Given the description of an element on the screen output the (x, y) to click on. 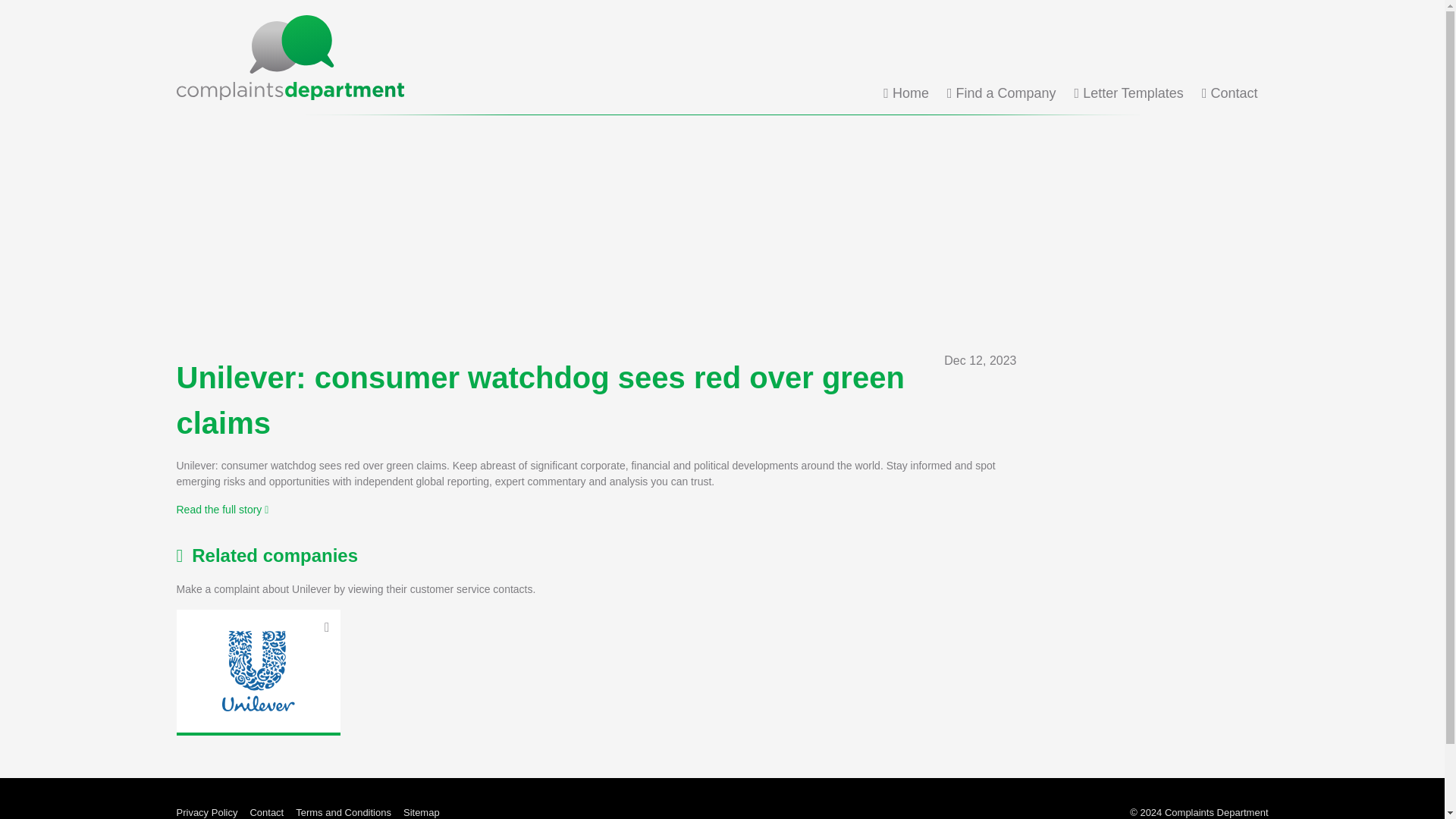
Unilever Complaints (257, 670)
Sitemap (421, 809)
Terms and Conditions (343, 809)
Letter Templates (1128, 92)
Find a Company (1002, 92)
Privacy Policy (206, 809)
Contact (1229, 92)
Contact (265, 809)
Read the full story (221, 509)
Home (905, 92)
